Given the description of an element on the screen output the (x, y) to click on. 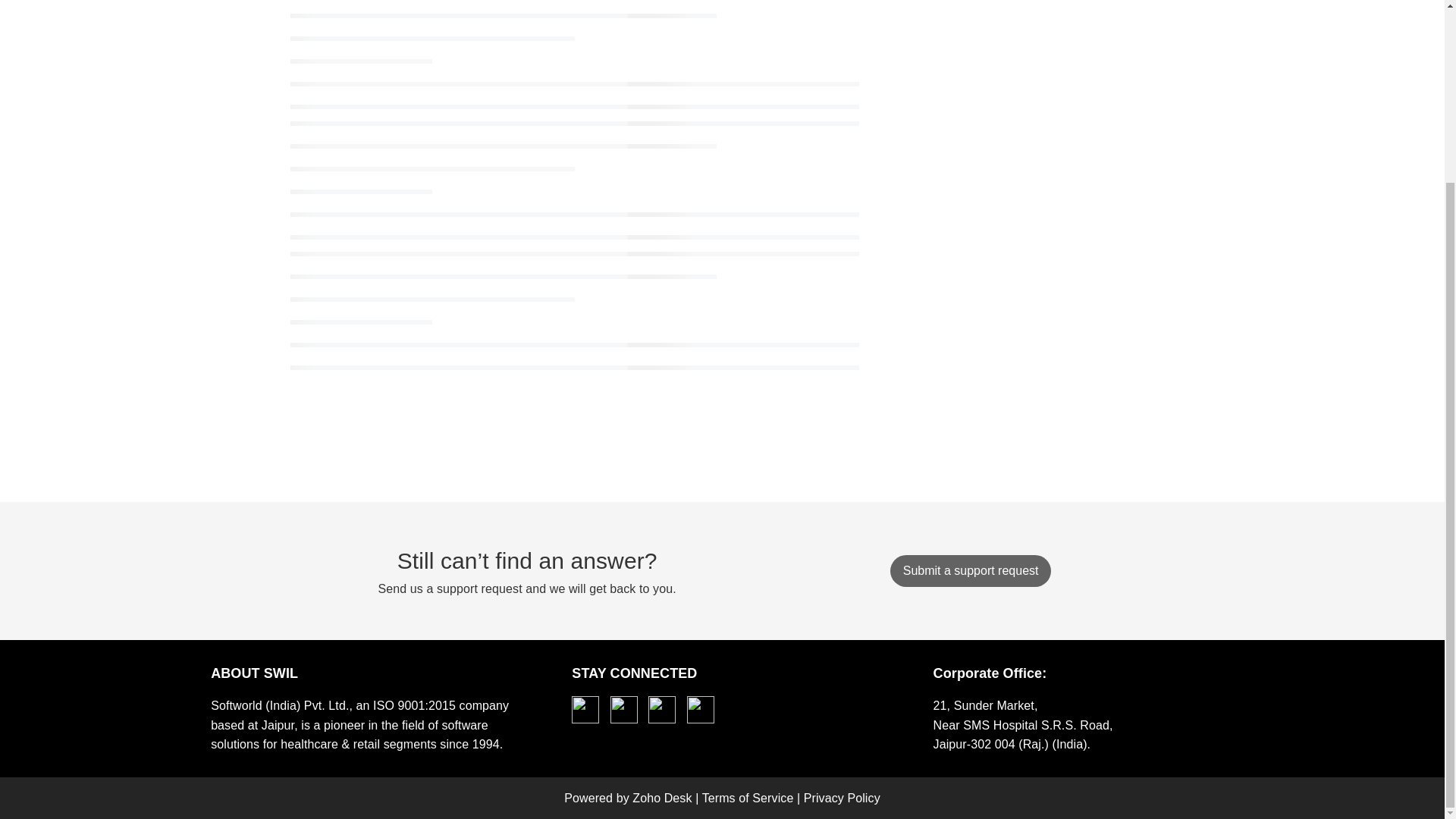
Submit a support request (970, 571)
Submit a support request (970, 570)
Privacy Policy (841, 797)
Zoho Desk (661, 797)
Terms of Service (747, 797)
